Given the description of an element on the screen output the (x, y) to click on. 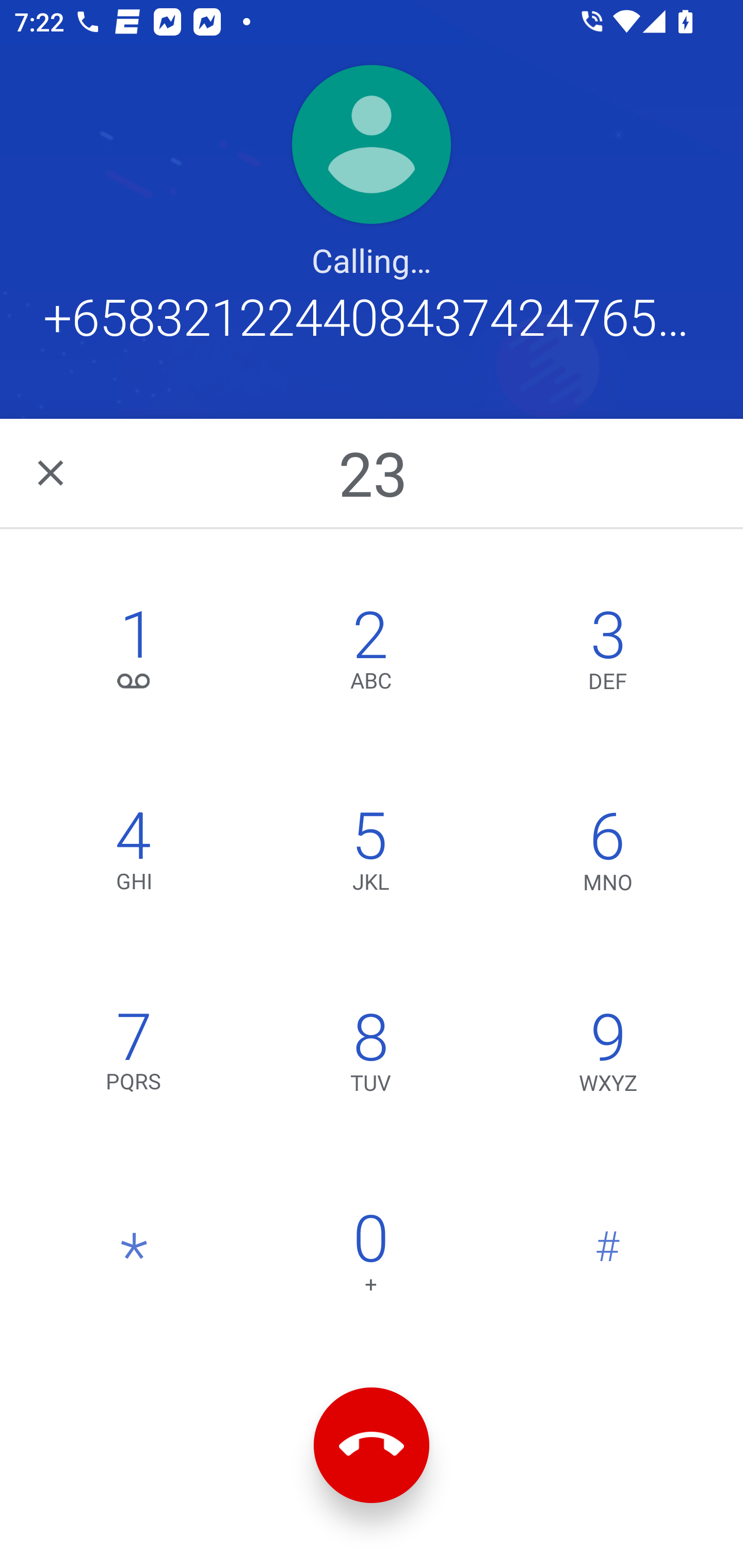
23 (372, 472)
Navigate back (52, 472)
1, 1 (133, 655)
2,ABC 2 ABC (370, 655)
3,DEF 3 DEF (607, 655)
4,GHI 4 GHI (133, 855)
5,JKL 5 JKL (370, 855)
6,MNO 6 MNO (607, 855)
7,PQRS 7 PQRS (133, 1056)
8,TUV 8 TUV (370, 1056)
9,WXYZ 9 WXYZ (607, 1056)
* (133, 1257)
0 0 + (370, 1257)
# (607, 1257)
End call (371, 1445)
